Given the description of an element on the screen output the (x, y) to click on. 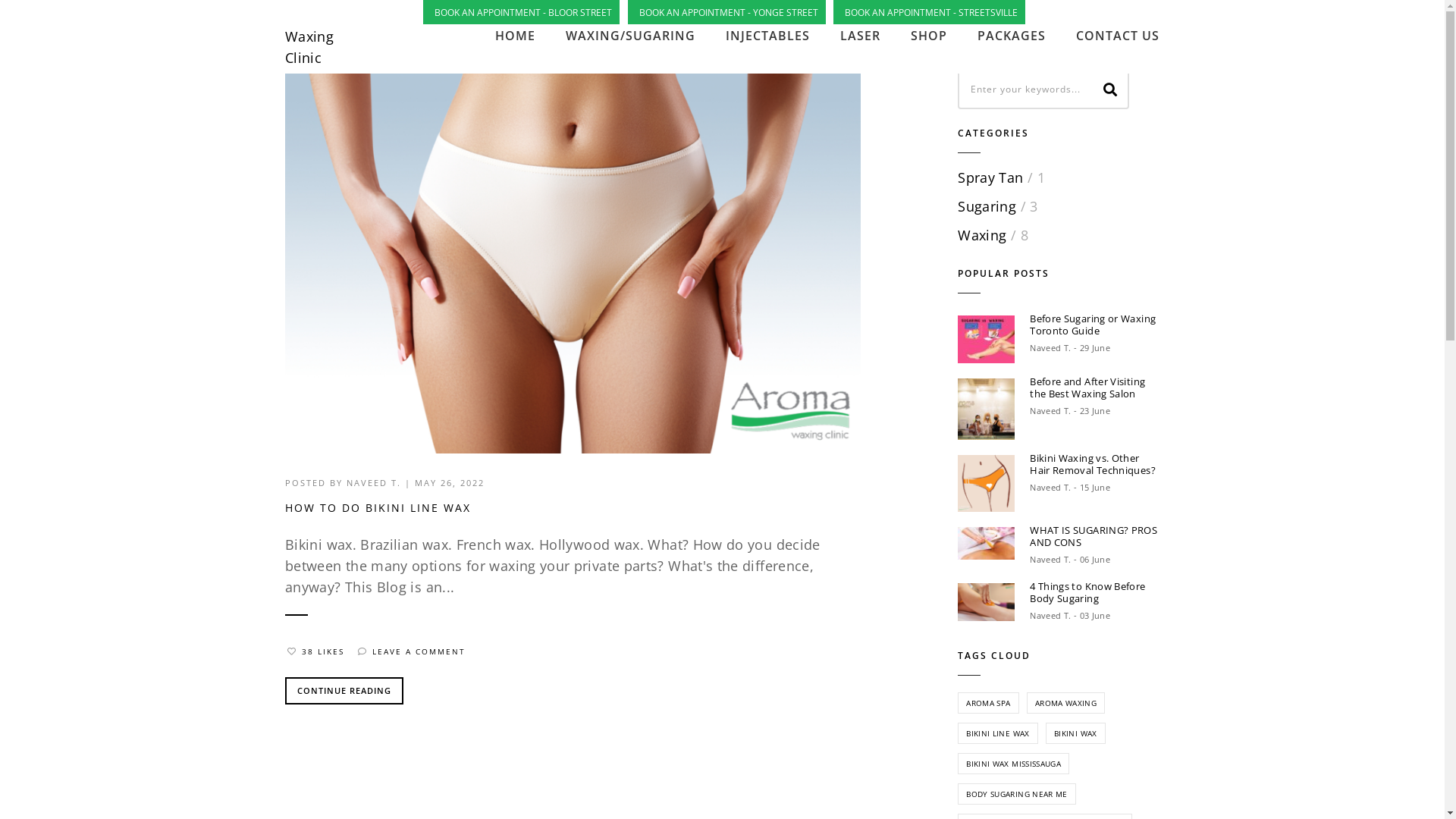
sugaring-pros-and-cons Element type: hover (985, 543)
38 LIKES Element type: text (314, 651)
HOW TO DO BIKINI LINE WAX Element type: text (572, 507)
sugaring VS waxing Element type: hover (985, 339)
BIKINI WAX MISSISSAUGA Element type: text (1013, 763)
BOOK AN APPOINTMENT BLOOR STREET Element type: text (522, 12)
HOME Element type: text (898, 27)
SHOP Element type: text (928, 36)
WHAT IS SUGARING? PROS AND CONS Element type: text (1094, 536)
BOOK AN APPOINTMENT STREETSVILLE Element type: text (931, 12)
LASER Element type: text (860, 36)
PACKAGES Element type: text (1011, 36)
Before Sugaring or Waxing Toronto Guide Element type: text (1094, 324)
Before and After Visiting the Best Waxing Salon Element type: text (1094, 387)
how to do bikini line wax Element type: hover (572, 261)
Sugaring Element type: text (986, 206)
Spray Tan Element type: text (989, 177)
HOME Element type: text (515, 36)
AROMA SPA Element type: text (987, 702)
Bikini Waxing vs. Other Hair Removal Techniques? Element type: text (1094, 463)
Leg sugaring Toronto Element type: hover (985, 602)
CONTINUE READING Element type: text (344, 690)
4 Things to Know Before Body Sugaring Element type: text (1094, 592)
Aroma Bikini Element type: hover (985, 483)
BOOK AN APPOINTMENT YONGE STREET Element type: text (727, 12)
Waxing Element type: text (981, 234)
Aroma Waxing Clinic Toronto Element type: hover (985, 408)
INJECTABLES Element type: text (767, 36)
BIKINI LINE WAX Element type: text (997, 732)
AROMA WAXING Element type: text (1065, 702)
LEAVE A COMMENT Element type: text (410, 651)
BODY SUGARING NEAR ME Element type: text (1016, 793)
NAVEED T. Element type: text (373, 482)
CONTACT US Element type: text (1117, 36)
WAXING/SUGARING Element type: text (630, 36)
BIKINI WAX Element type: text (1075, 732)
